Given the description of an element on the screen output the (x, y) to click on. 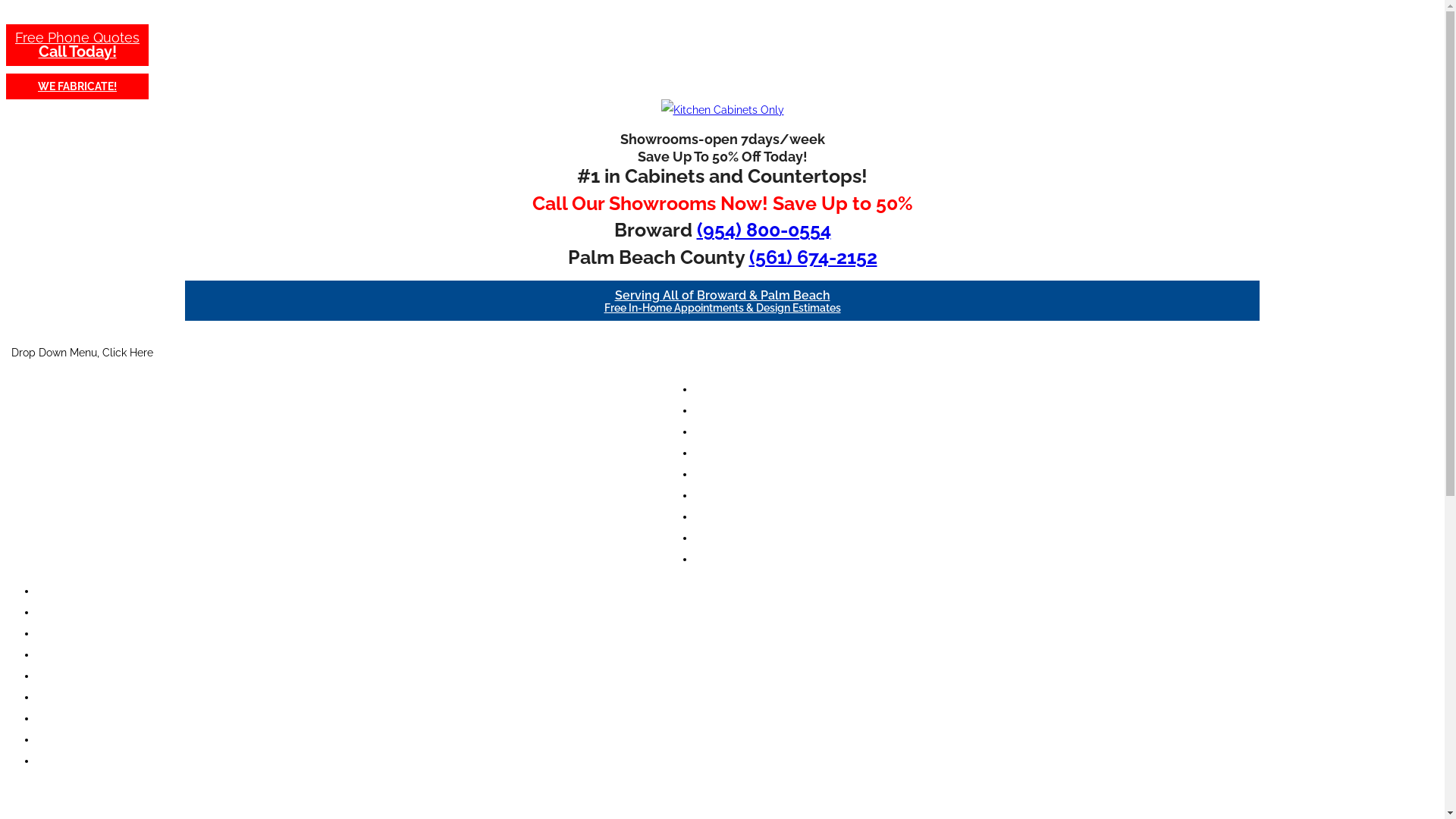
Gallery Element type: text (54, 696)
Quartz Element type: text (52, 611)
Modern Element type: text (737, 452)
Free Phone Quotes
Call Today! Element type: text (77, 44)
Granite/Quartzite Element type: text (737, 431)
Contact Element type: text (736, 558)
White Shaker Element type: text (736, 388)
Cabinets Element type: text (58, 675)
Granite/Quartzite Element type: text (79, 633)
Blog Element type: text (737, 537)
(561) 674-2152 Element type: text (813, 257)
Gallery Element type: text (737, 495)
WE FABRICATE! Element type: text (77, 86)
Reviews Element type: text (737, 516)
Cabinets Element type: text (737, 473)
Modern Element type: text (55, 654)
Reviews Element type: text (56, 718)
(954) 800-0554 Element type: text (763, 230)
White Shaker Element type: text (69, 590)
Contact Element type: text (55, 760)
Blog Element type: text (47, 739)
Quartz Element type: text (737, 410)
